Given the description of an element on the screen output the (x, y) to click on. 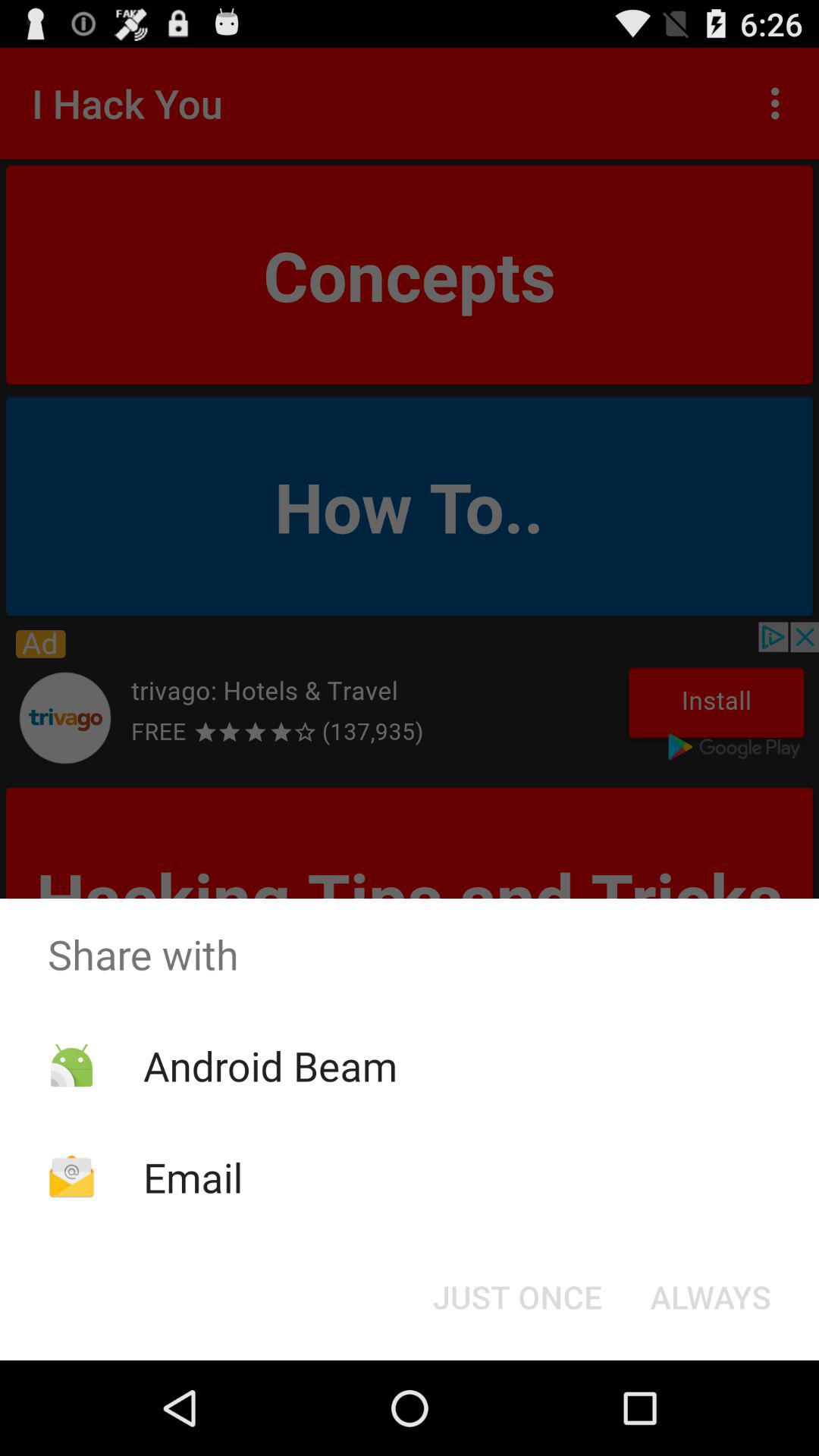
turn on the app above email icon (270, 1065)
